Given the description of an element on the screen output the (x, y) to click on. 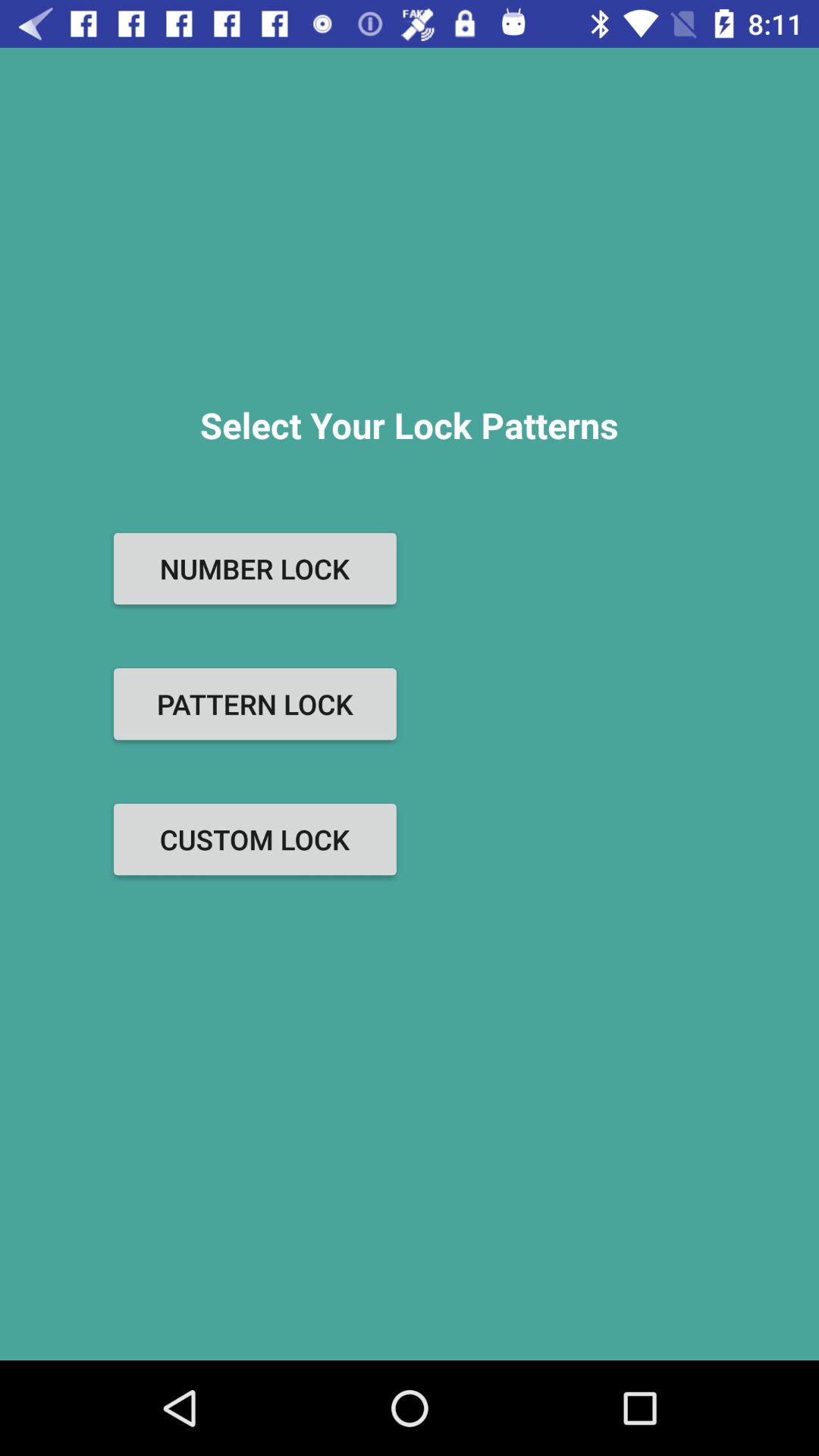
swipe to pattern lock item (254, 703)
